Given the description of an element on the screen output the (x, y) to click on. 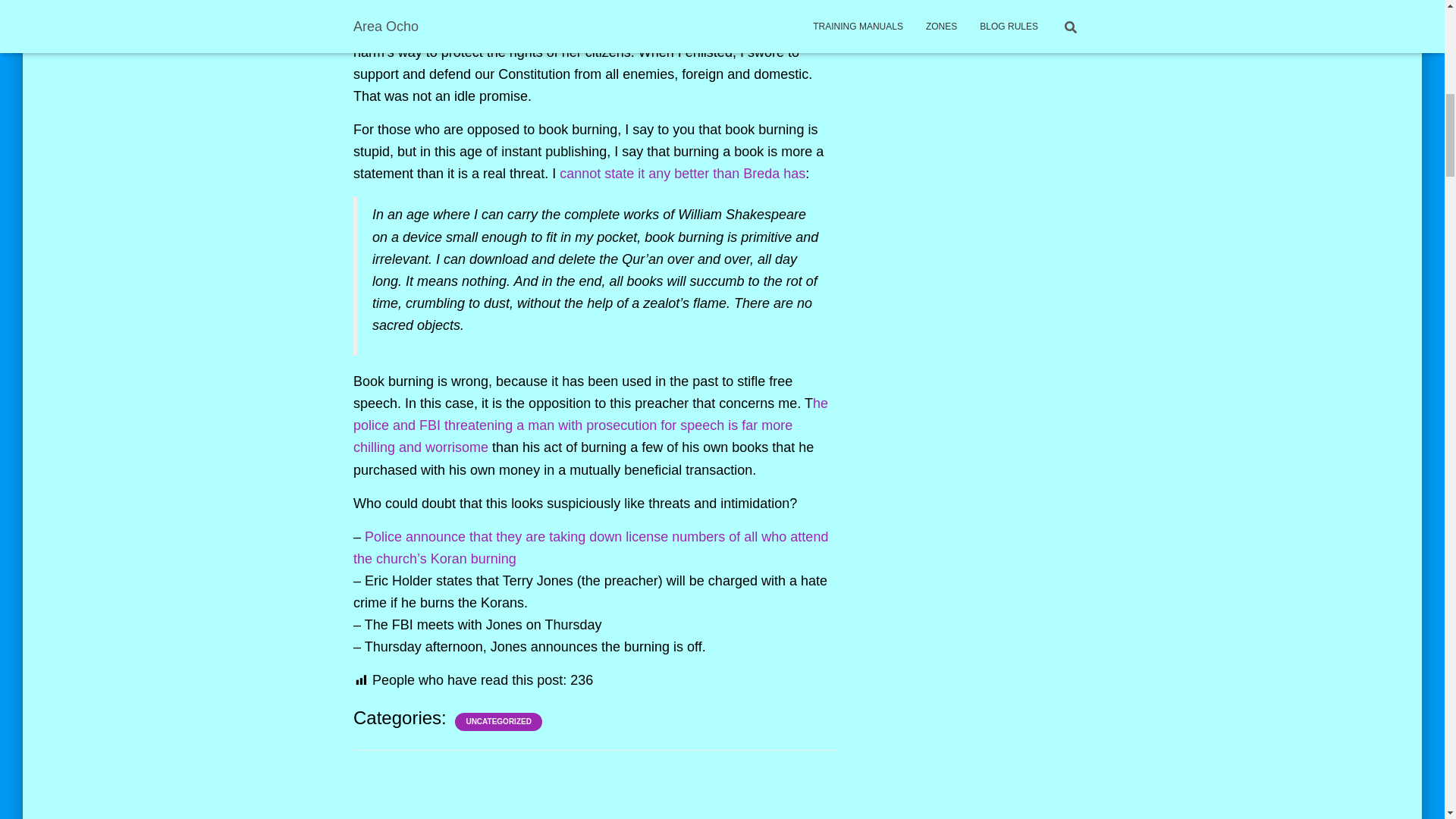
UNCATEGORIZED (498, 721)
cannot state it any better than Breda has (680, 173)
